Given the description of an element on the screen output the (x, y) to click on. 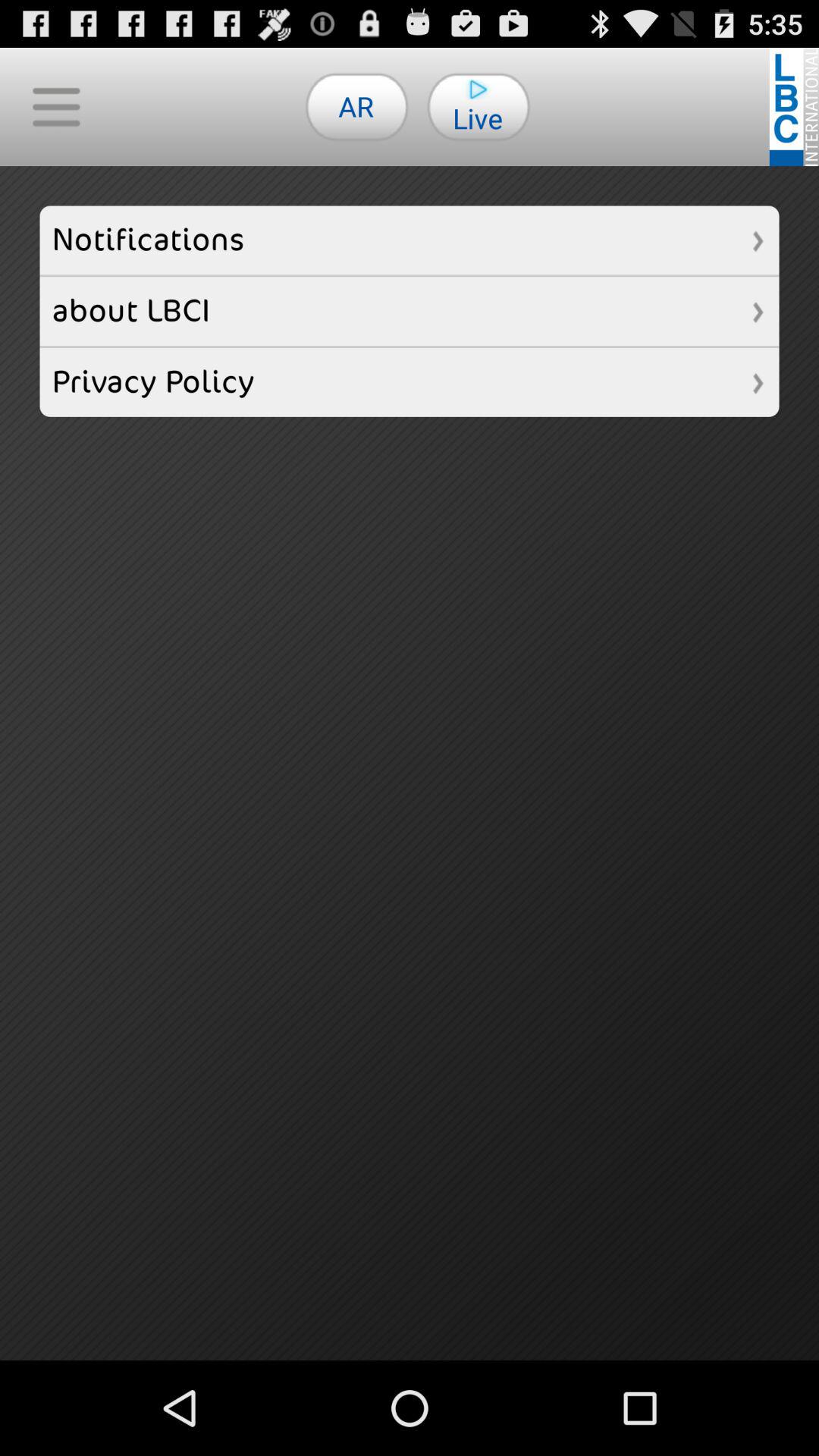
flip until the about lbci item (409, 310)
